Given the description of an element on the screen output the (x, y) to click on. 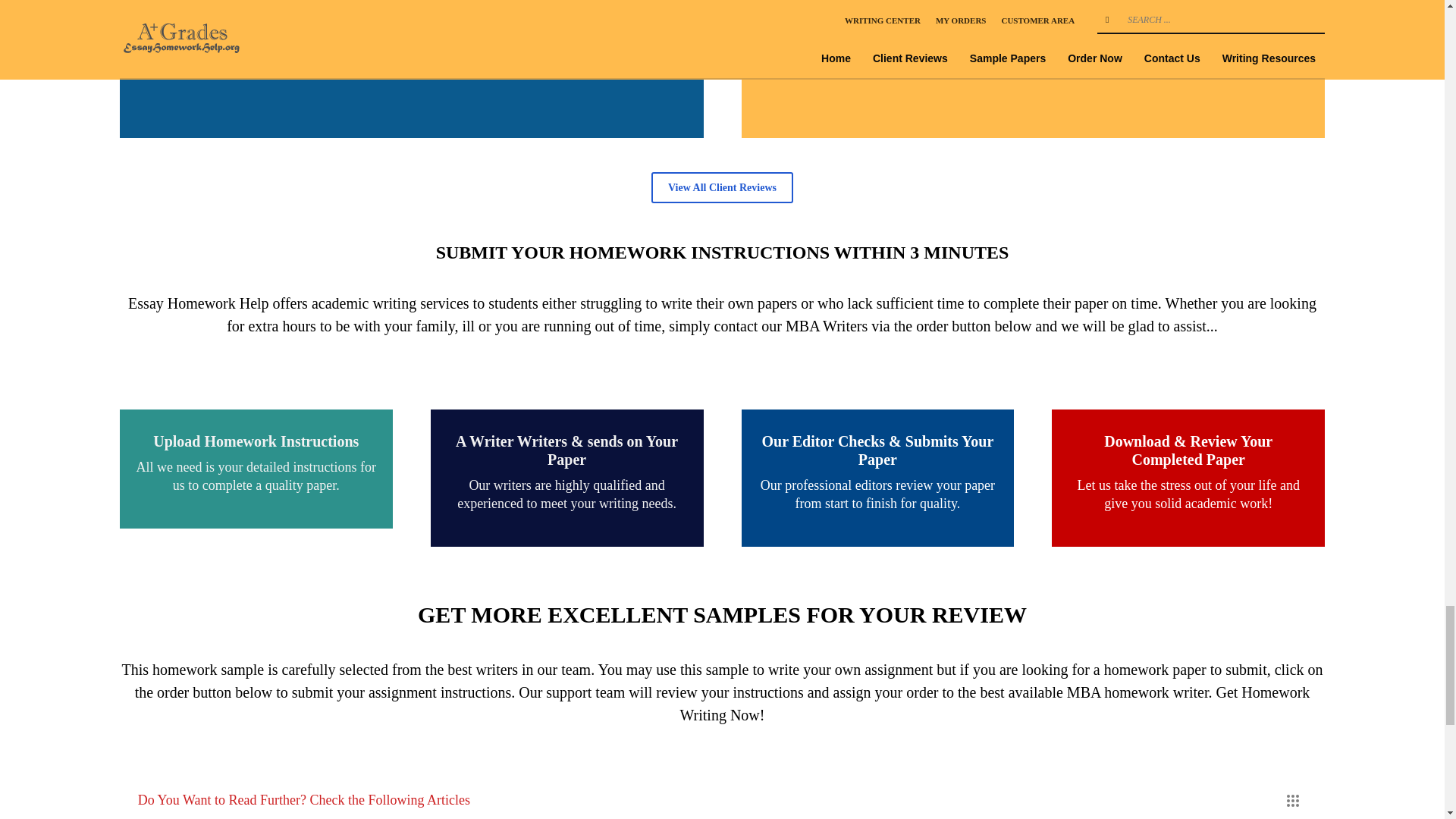
View All Client Reviews (721, 187)
